Given the description of an element on the screen output the (x, y) to click on. 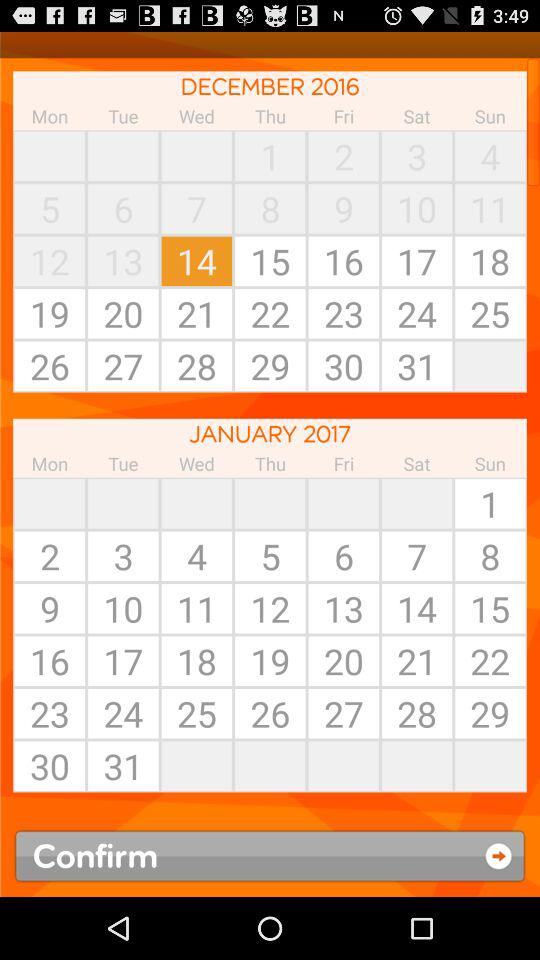
tap the item next to 27 app (270, 765)
